Given the description of an element on the screen output the (x, y) to click on. 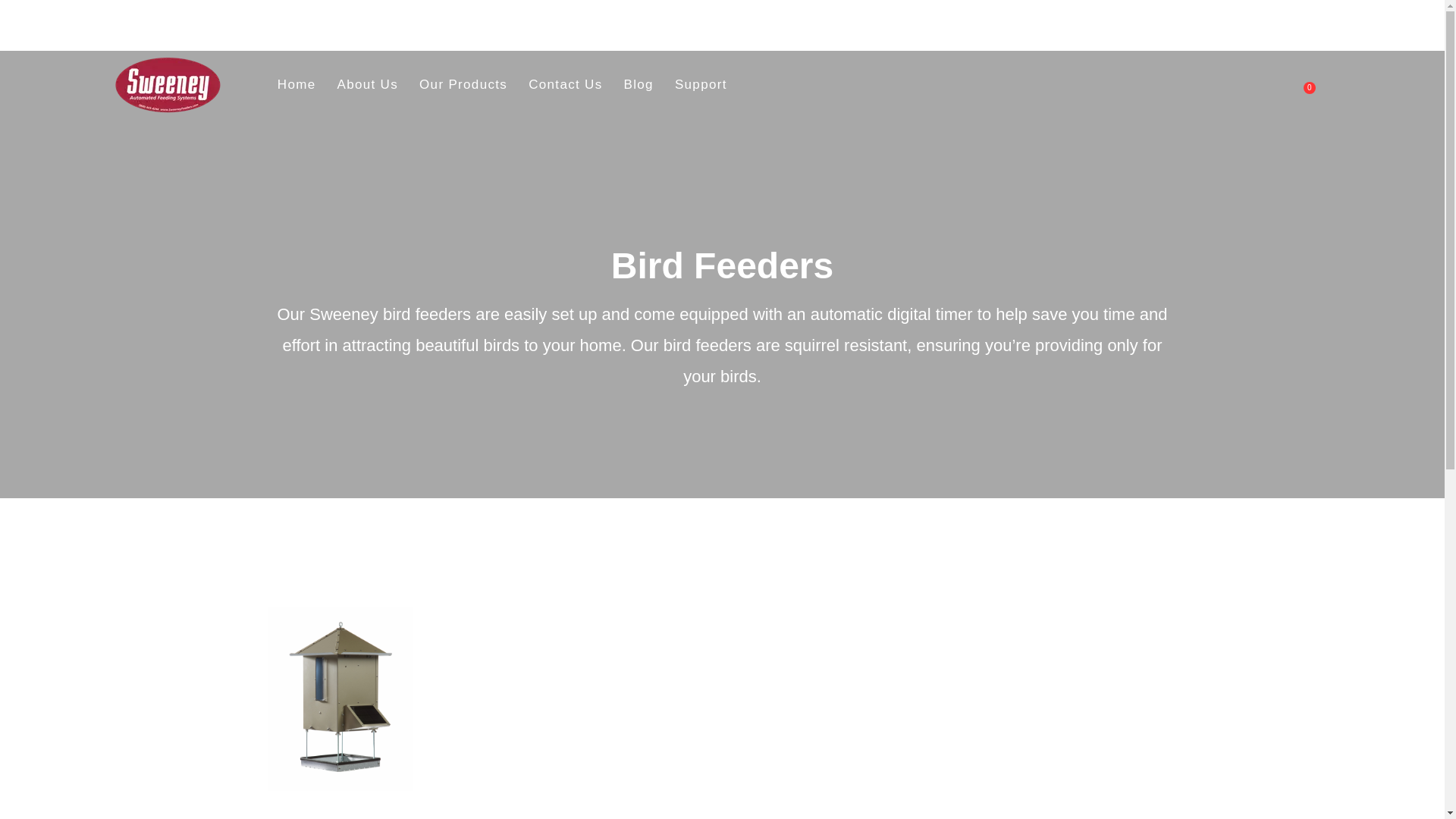
Support (1308, 87)
About Us (700, 84)
Home (367, 84)
Our Products (295, 84)
Blog (463, 84)
Contact Us (638, 84)
